Given the description of an element on the screen output the (x, y) to click on. 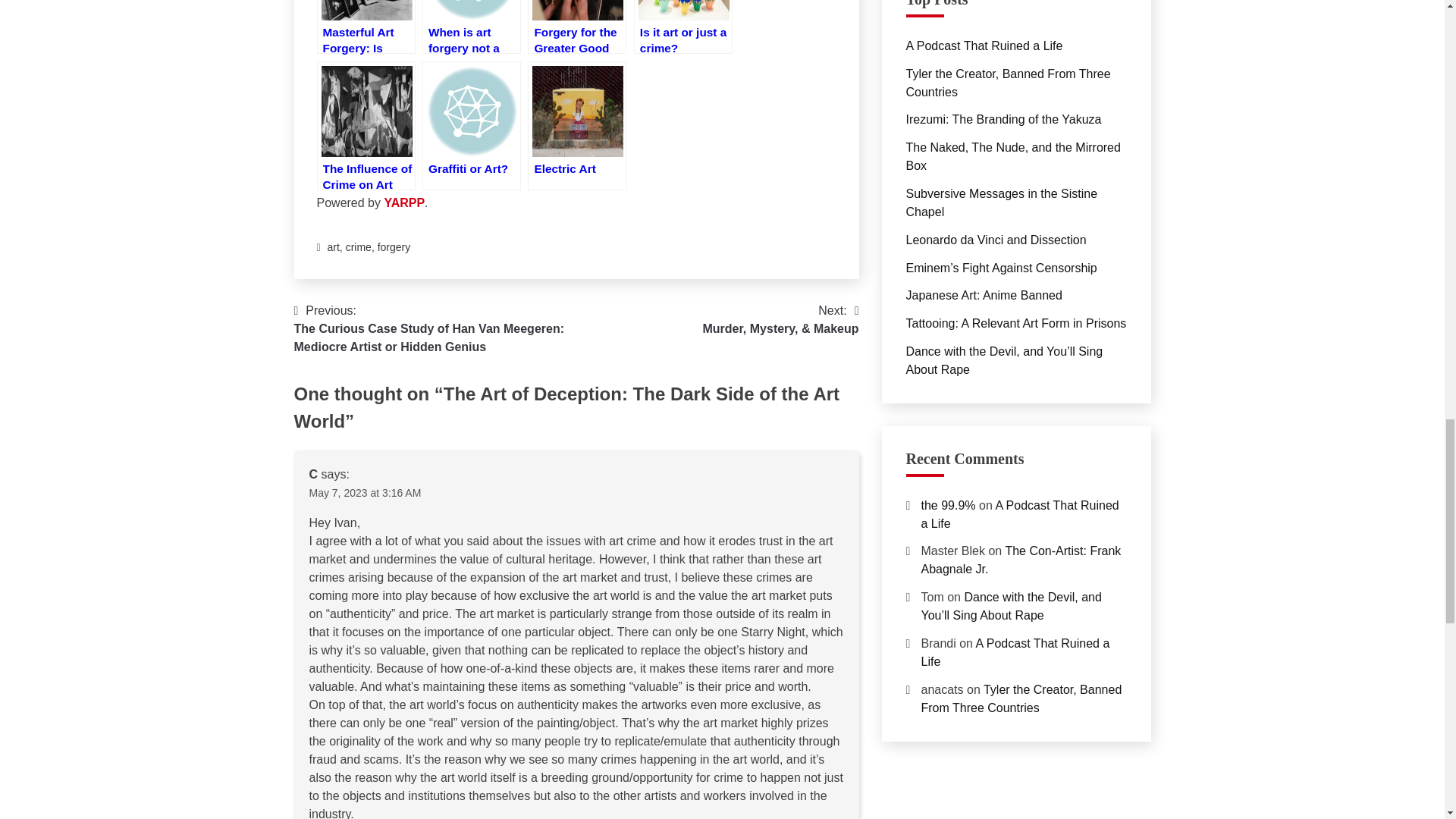
Is it art or just a crime? (682, 27)
Forgery for the Greater Good (576, 27)
Electric Art (576, 125)
Graffiti or Art? (471, 125)
The Influence of Crime on Art (365, 125)
crime (358, 246)
Forgery for the Greater Good (576, 27)
May 7, 2023 at 3:16 AM (365, 492)
art (333, 246)
Graffiti or Art? (471, 125)
forgery (393, 246)
WordPress Related Posts (404, 202)
YARPP (404, 202)
